Given the description of an element on the screen output the (x, y) to click on. 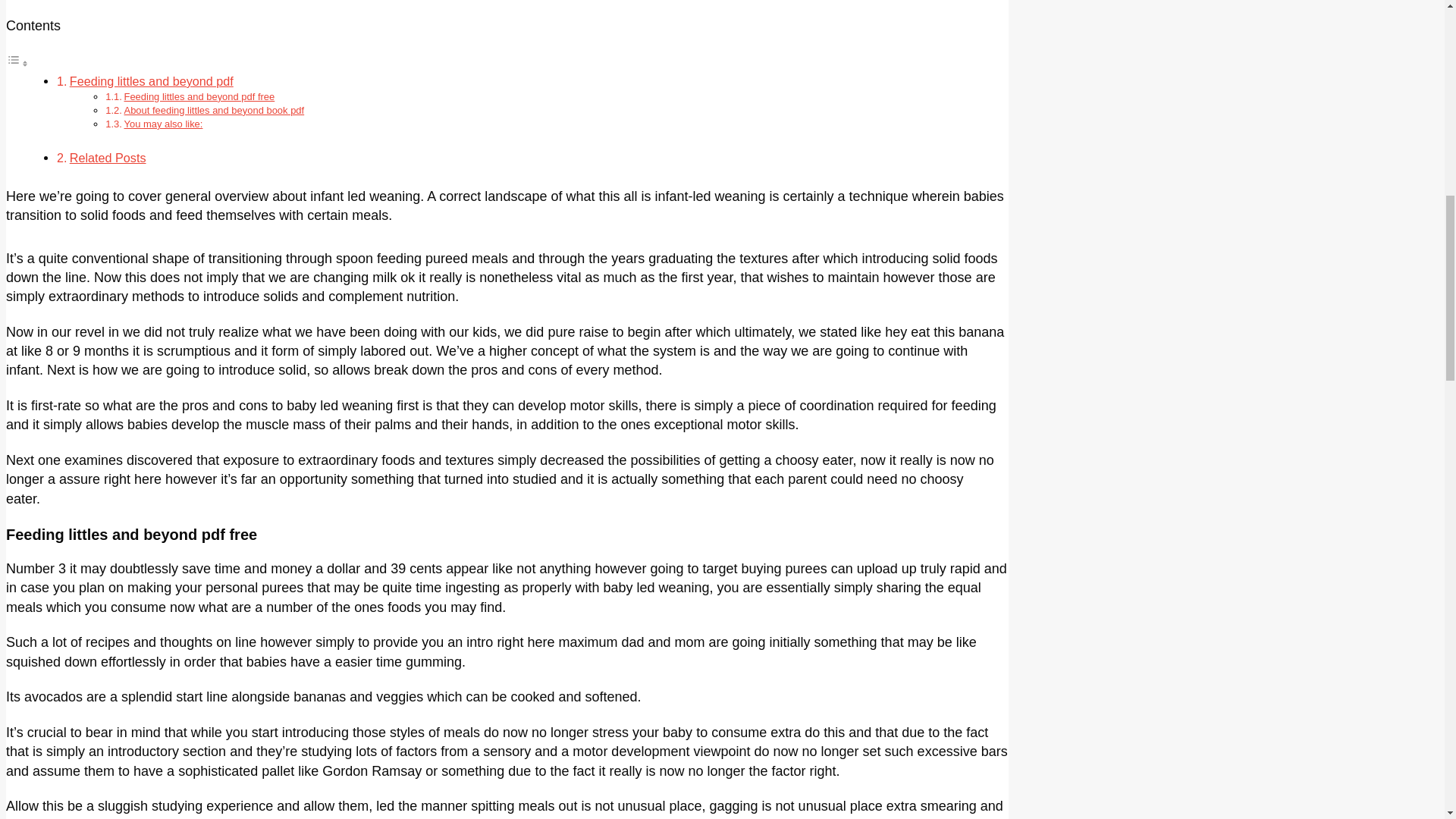
Feeding littles and beyond pdf free (199, 96)
Feeding littles and beyond pdf (150, 80)
Feeding littles and beyond pdf free (199, 96)
About feeding littles and beyond book pdf (213, 110)
You may also like: (163, 123)
Related Posts (108, 157)
You may also like: (163, 123)
Related Posts (108, 157)
About feeding littles and beyond book pdf (213, 110)
Feeding littles and beyond pdf (150, 80)
